Given the description of an element on the screen output the (x, y) to click on. 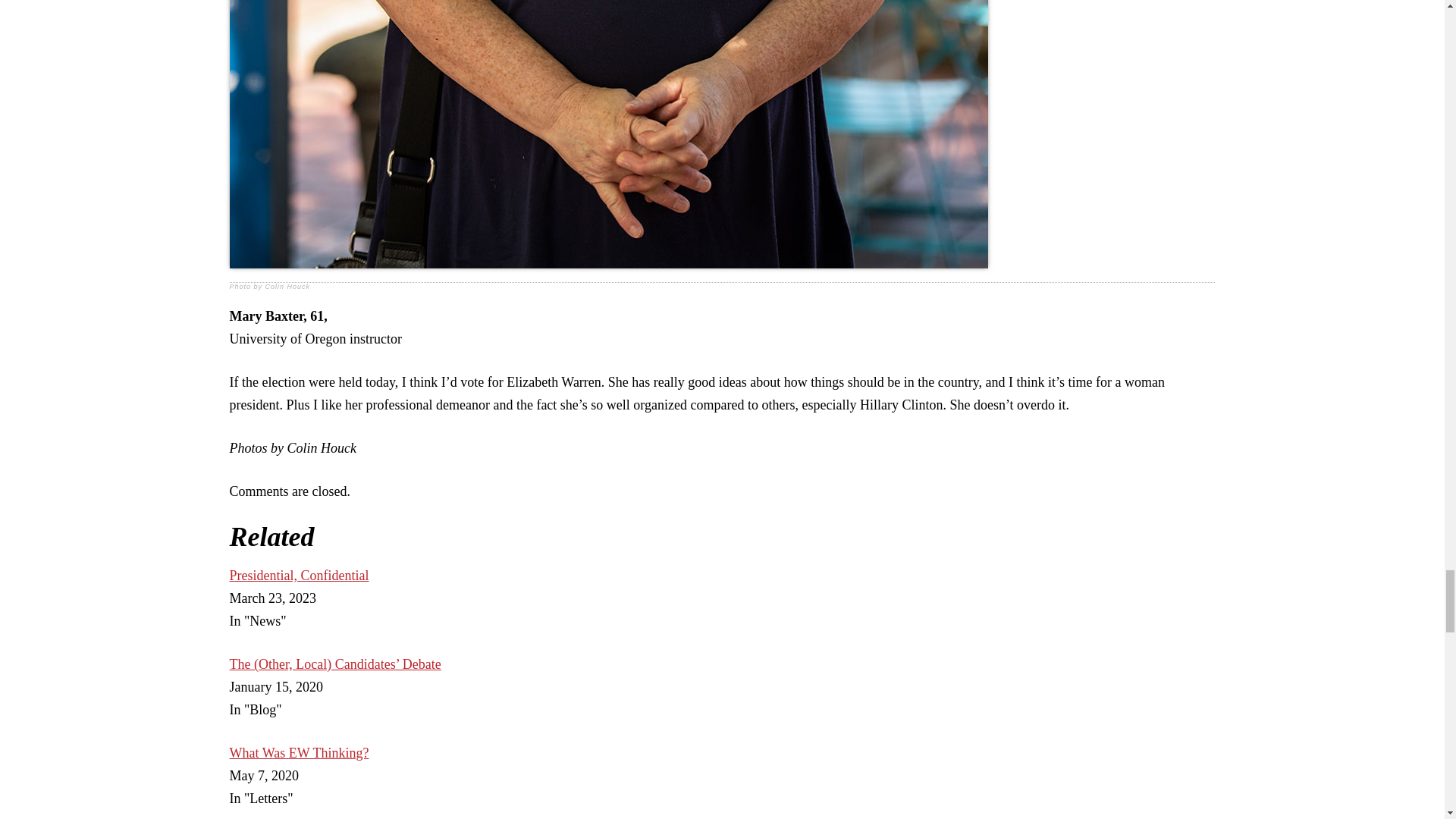
Presidential, Confidential (298, 575)
What Was EW Thinking? (298, 752)
